Given the description of an element on the screen output the (x, y) to click on. 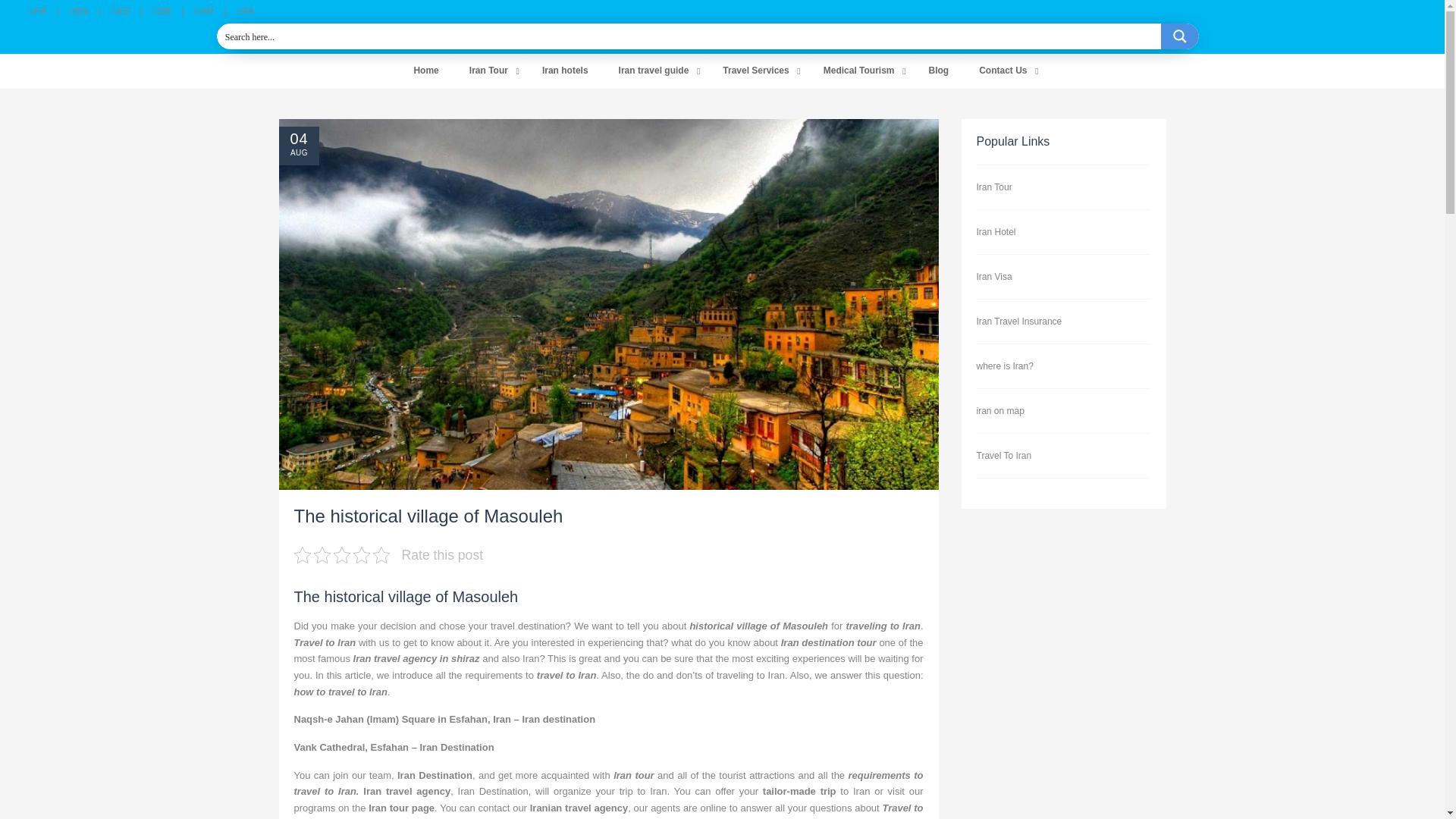
Home (424, 71)
Iran Tour (490, 71)
Iran travel guide (655, 71)
Iran hotel (565, 71)
Iran hotels (565, 71)
Iran Tour (490, 71)
Travel Services (757, 71)
Contact Us (1004, 71)
